Given the description of an element on the screen output the (x, y) to click on. 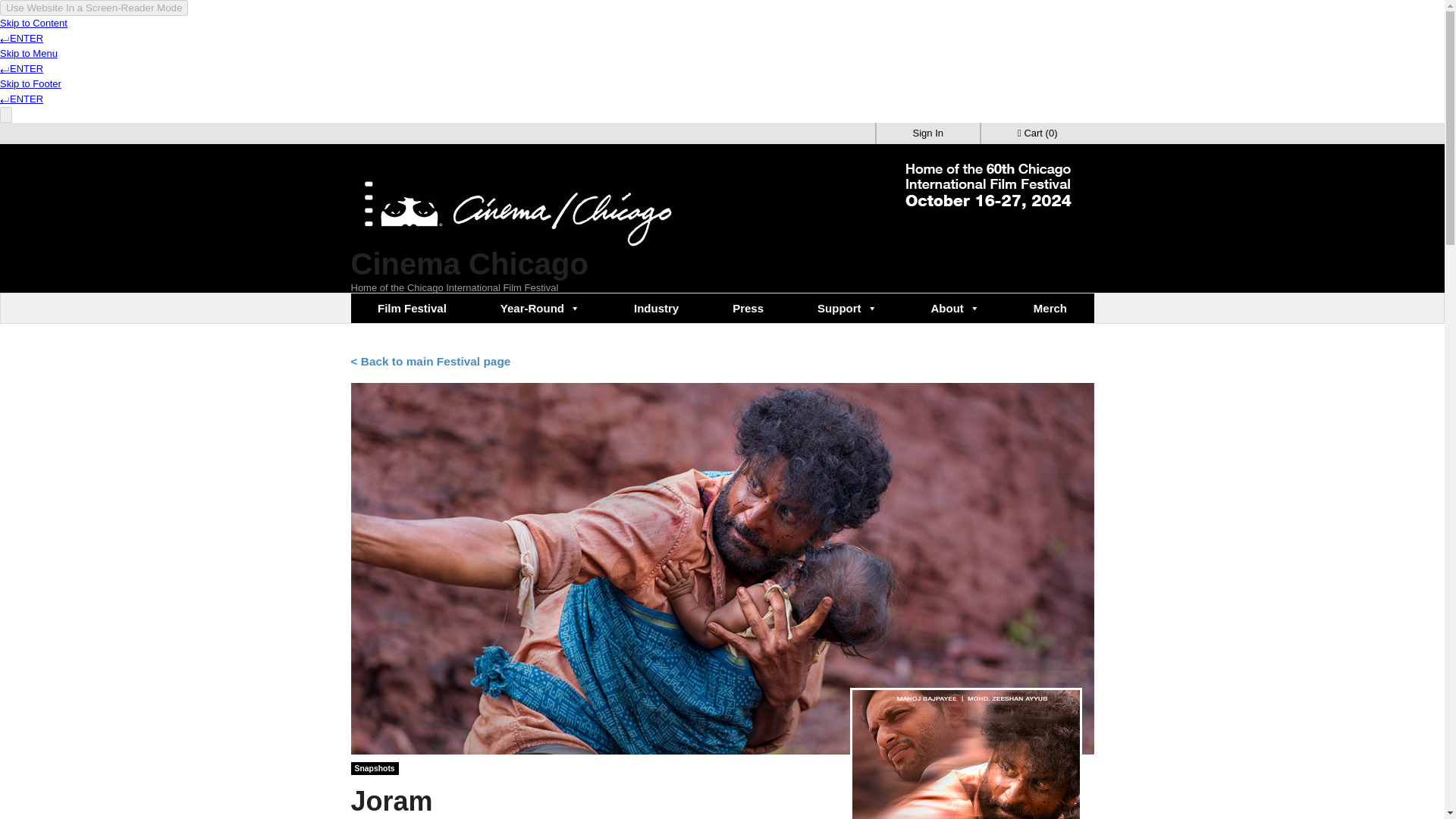
Home of the Chicago International Film Festival (516, 240)
Cinema Chicago (469, 263)
Press (748, 307)
Year-Round (540, 307)
Snapshots (373, 768)
Support (847, 307)
Film Festival (411, 307)
About (955, 307)
Sign In (927, 133)
Industry (656, 307)
Merch (1049, 307)
